Given the description of an element on the screen output the (x, y) to click on. 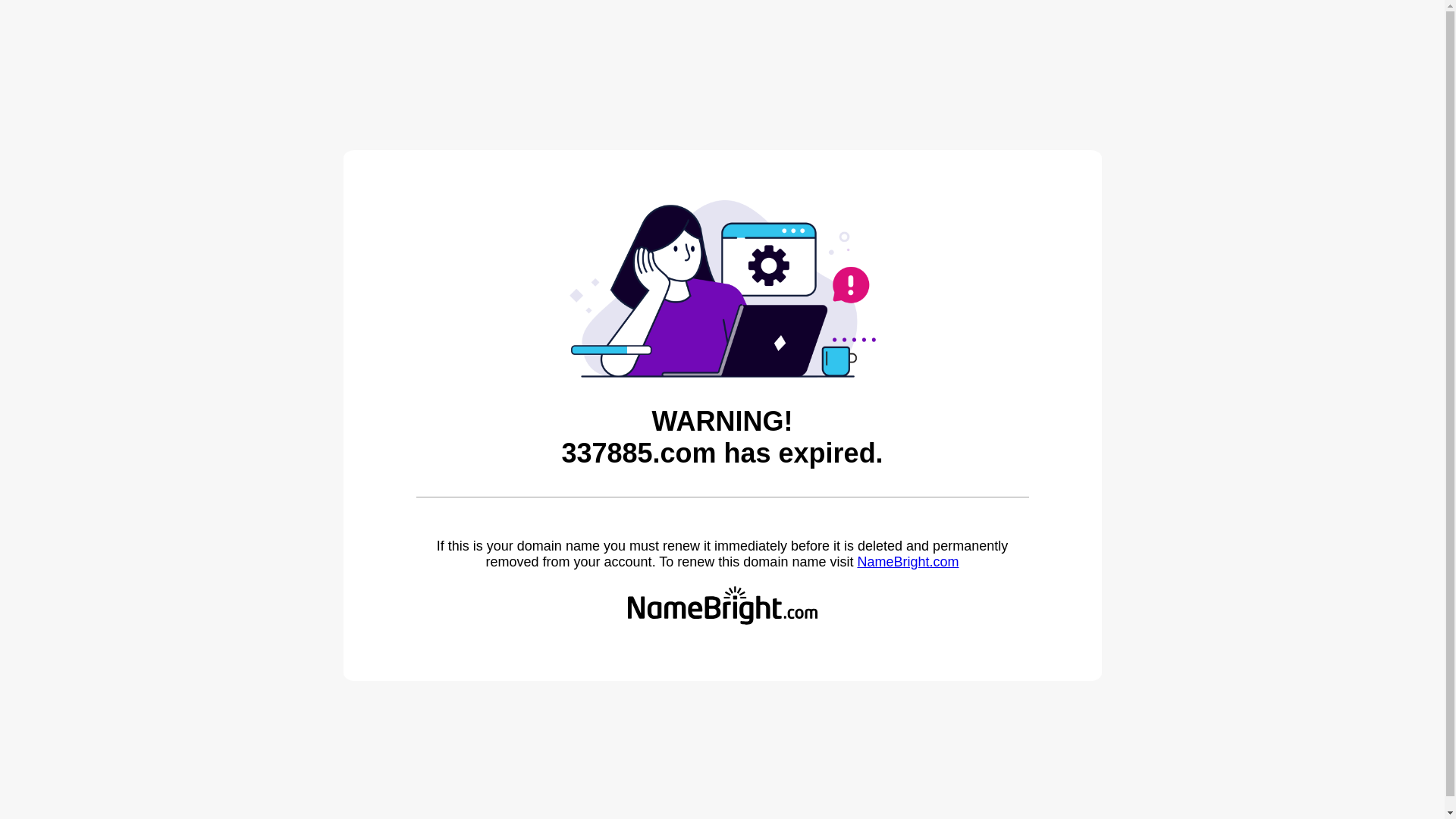
NameBright.com Element type: text (907, 561)
